Given the description of an element on the screen output the (x, y) to click on. 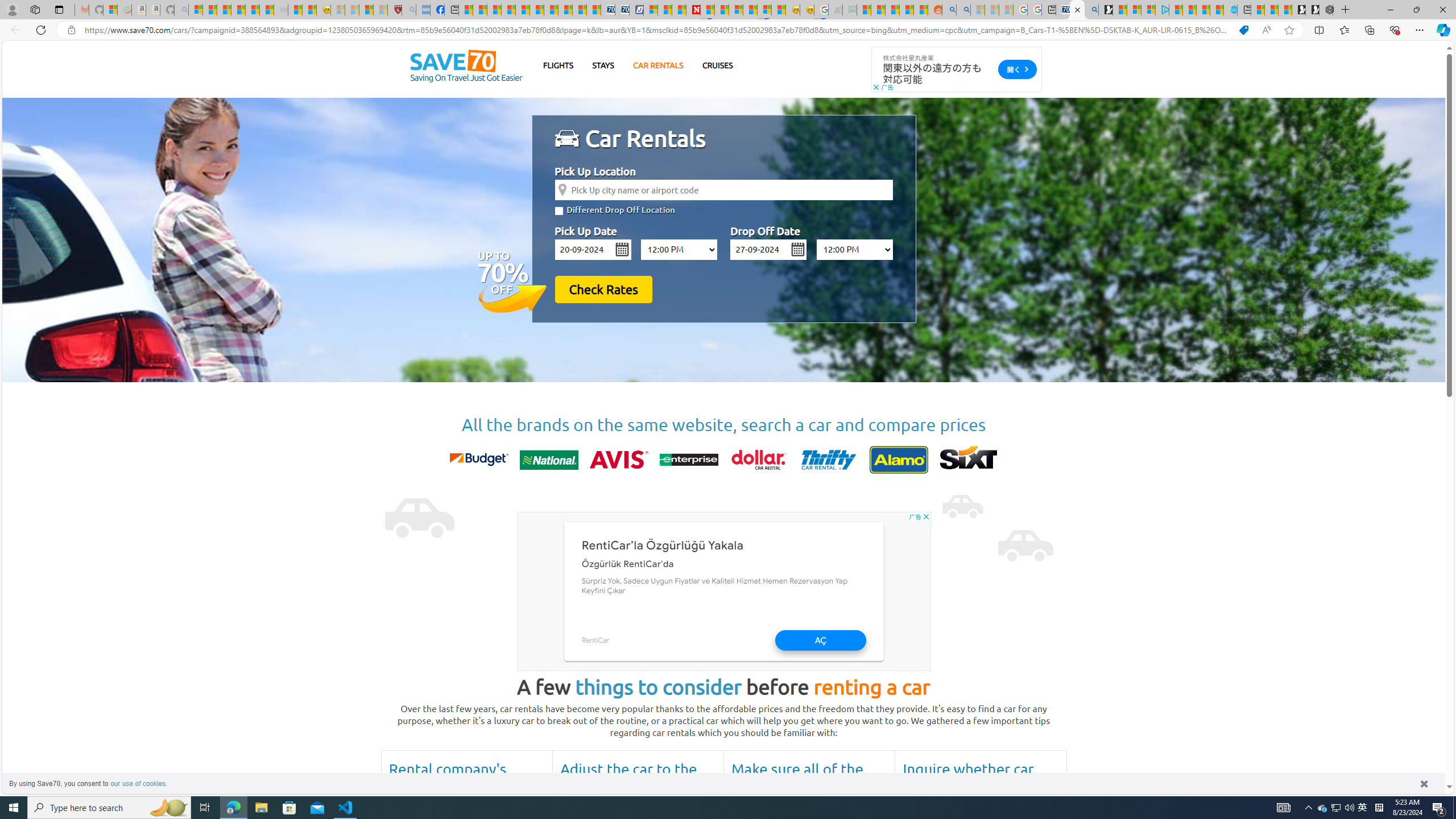
AutomationID: cbb (925, 515)
CAR RENTALS (657, 65)
thrifty (828, 459)
12 Popular Science Lies that Must be Corrected - Sleeping (380, 9)
Student Loan Update: Forgiveness Program Ends This Month (905, 9)
Homepage (465, 65)
Microsoft-Report a Concern to Bing (110, 9)
Address and search bar (658, 29)
New Report Confirms 2023 Was Record Hot | Watch (252, 9)
